Given the description of an element on the screen output the (x, y) to click on. 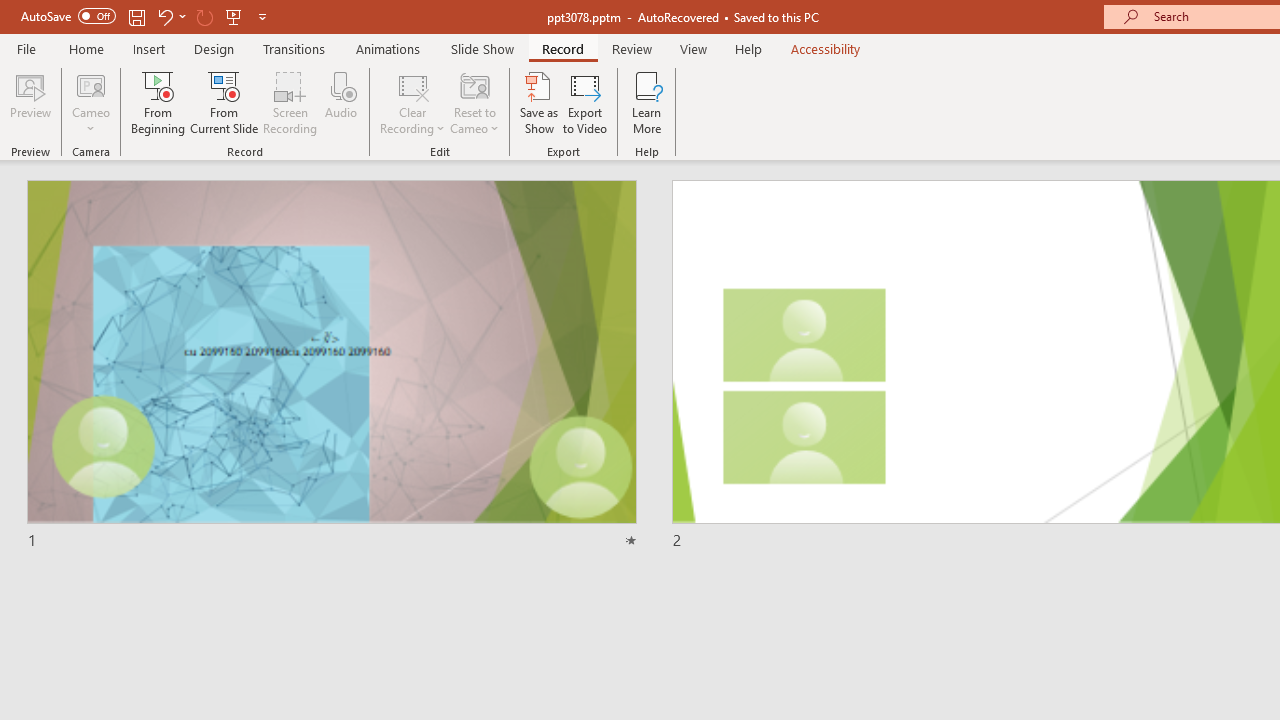
Clear Recording (412, 102)
Learn More (646, 102)
Save as Show (539, 102)
Screen Recording (290, 102)
